Given the description of an element on the screen output the (x, y) to click on. 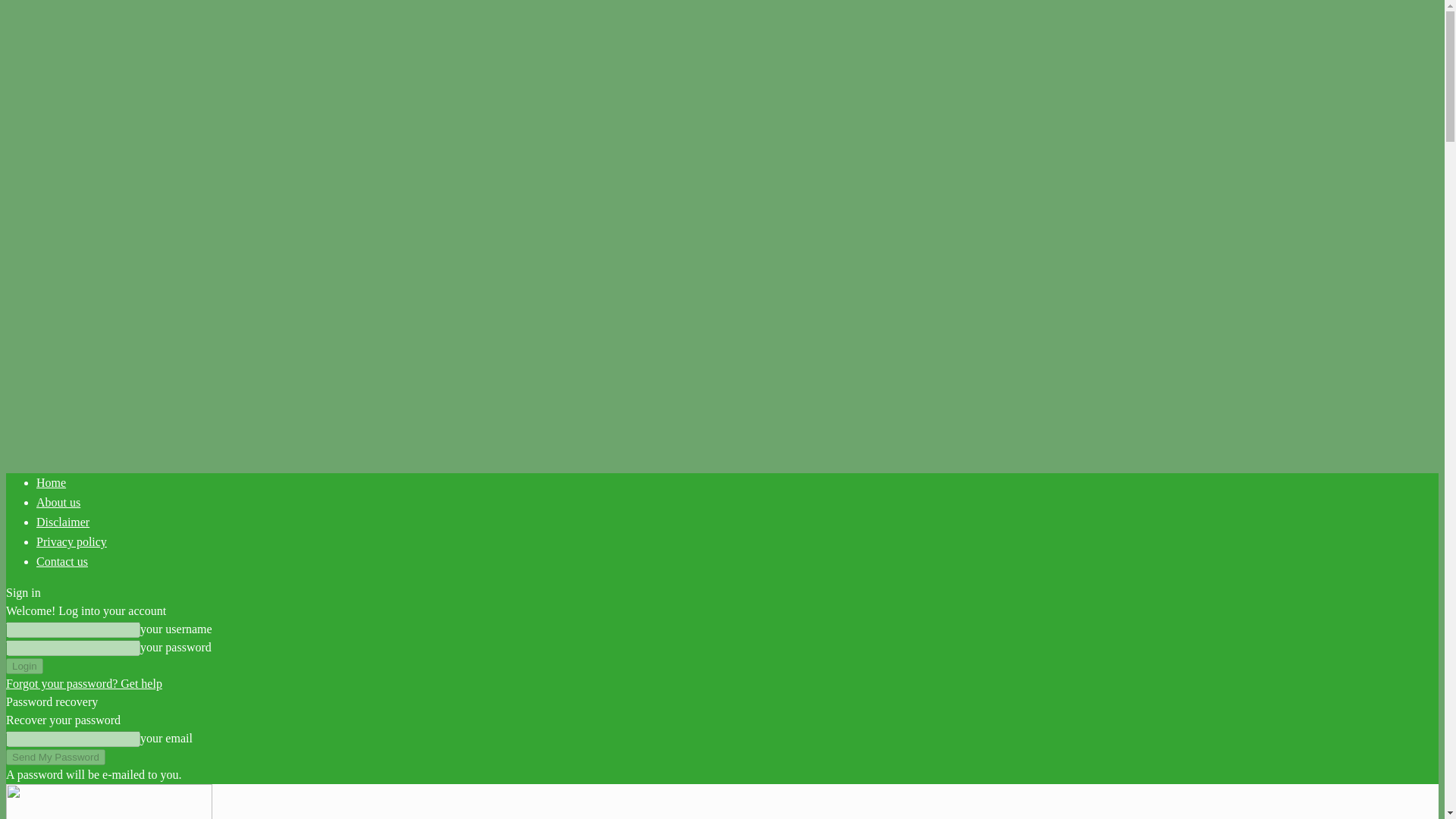
Forgot your password? Get help (83, 683)
Disclaimer (62, 521)
Send My Password (54, 756)
Contact us (61, 561)
Home (50, 481)
Privacy policy (71, 541)
About us (58, 502)
Login (24, 666)
